Given the description of an element on the screen output the (x, y) to click on. 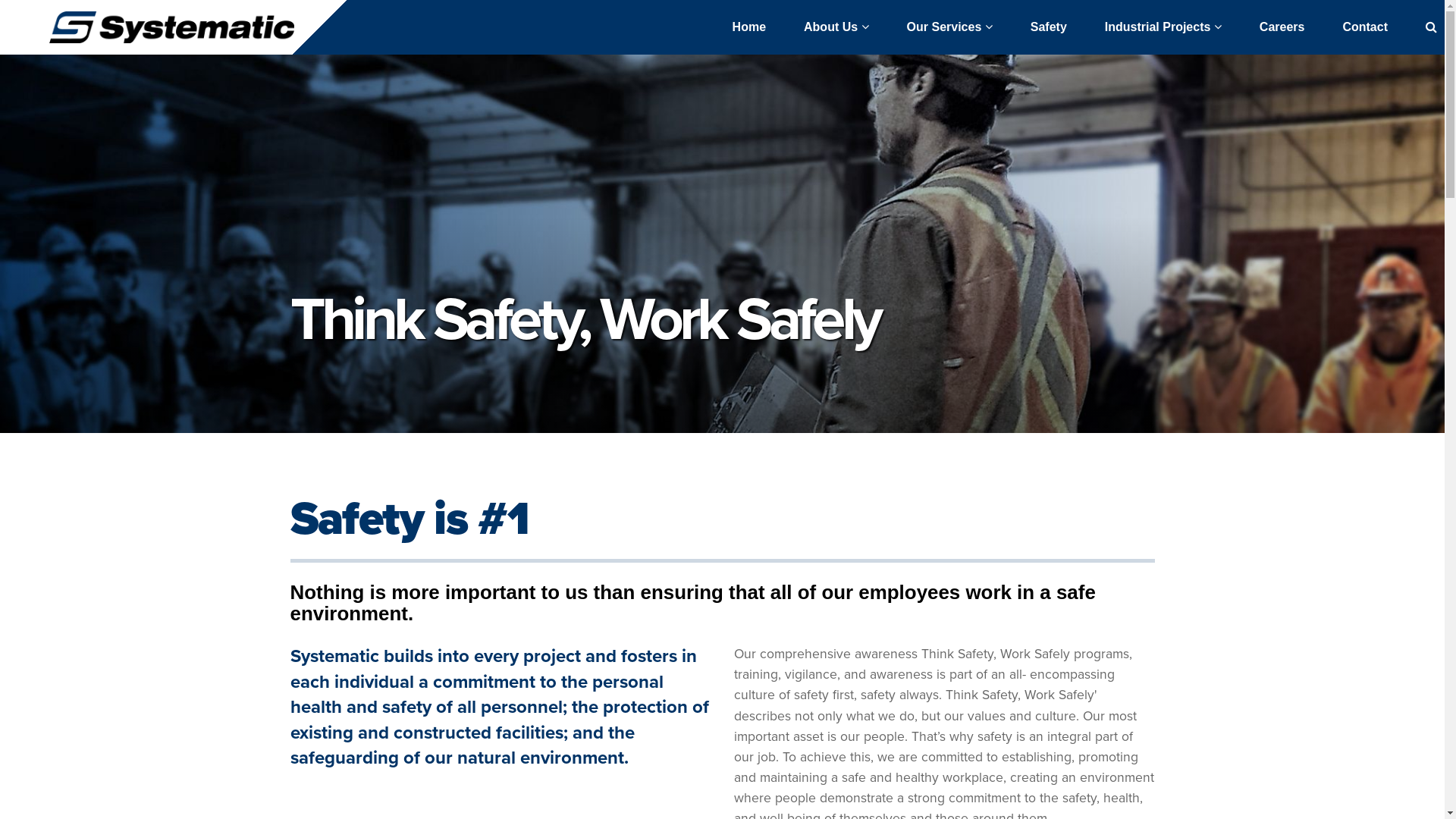
About Us Element type: text (836, 27)
Systematic Element type: hover (171, 27)
Industrial Projects Element type: text (1162, 27)
Careers Element type: text (1282, 27)
Contact Element type: text (1364, 27)
Home Element type: text (748, 27)
Safety Element type: text (1048, 27)
Our Services Element type: text (949, 27)
